Given the description of an element on the screen output the (x, y) to click on. 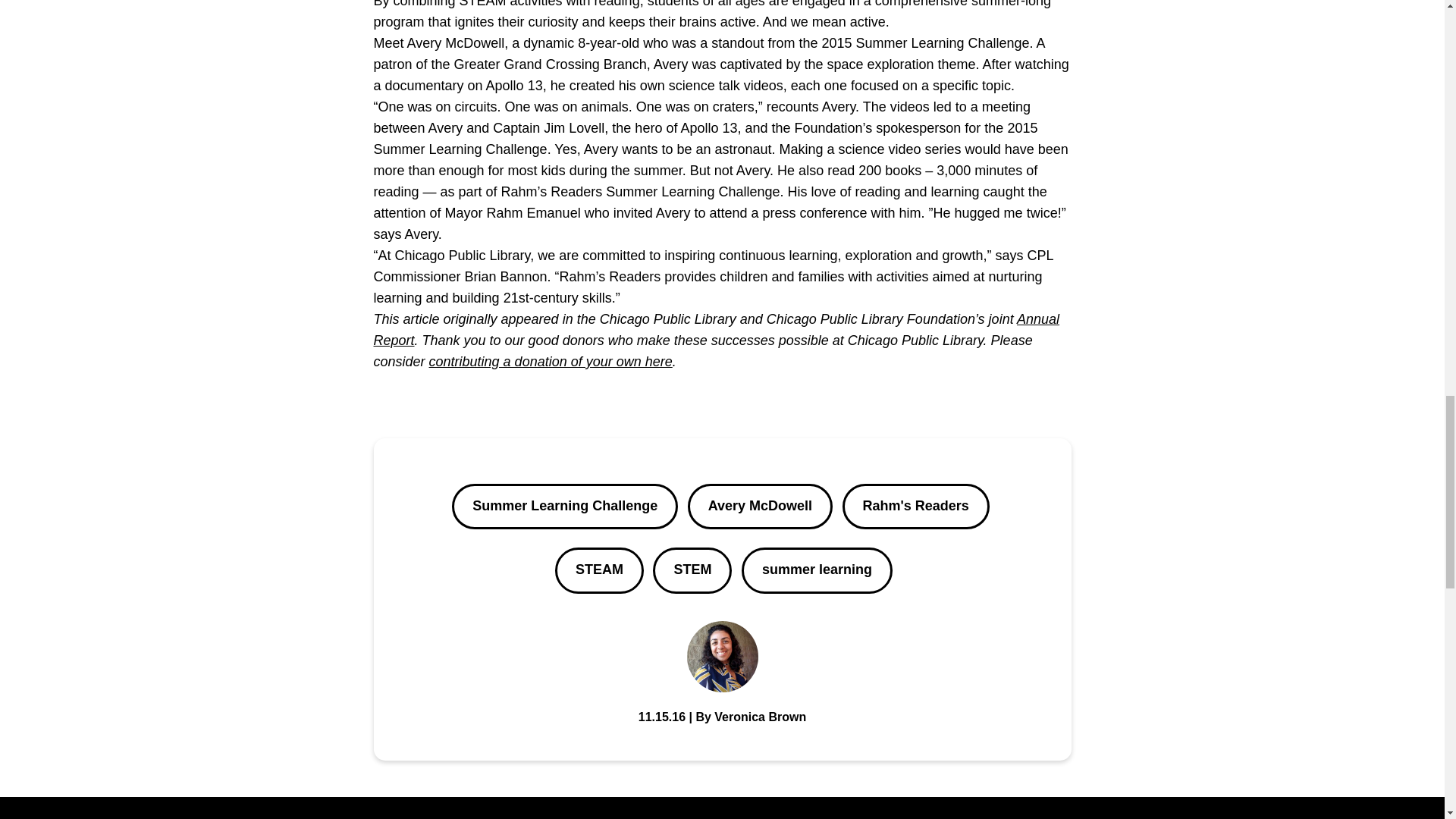
Annual Report (715, 330)
Summer Learning Challenge (564, 506)
Rahm's Readers (914, 506)
contributing a donation of your own here (550, 361)
Avery McDowell (759, 506)
